Given the description of an element on the screen output the (x, y) to click on. 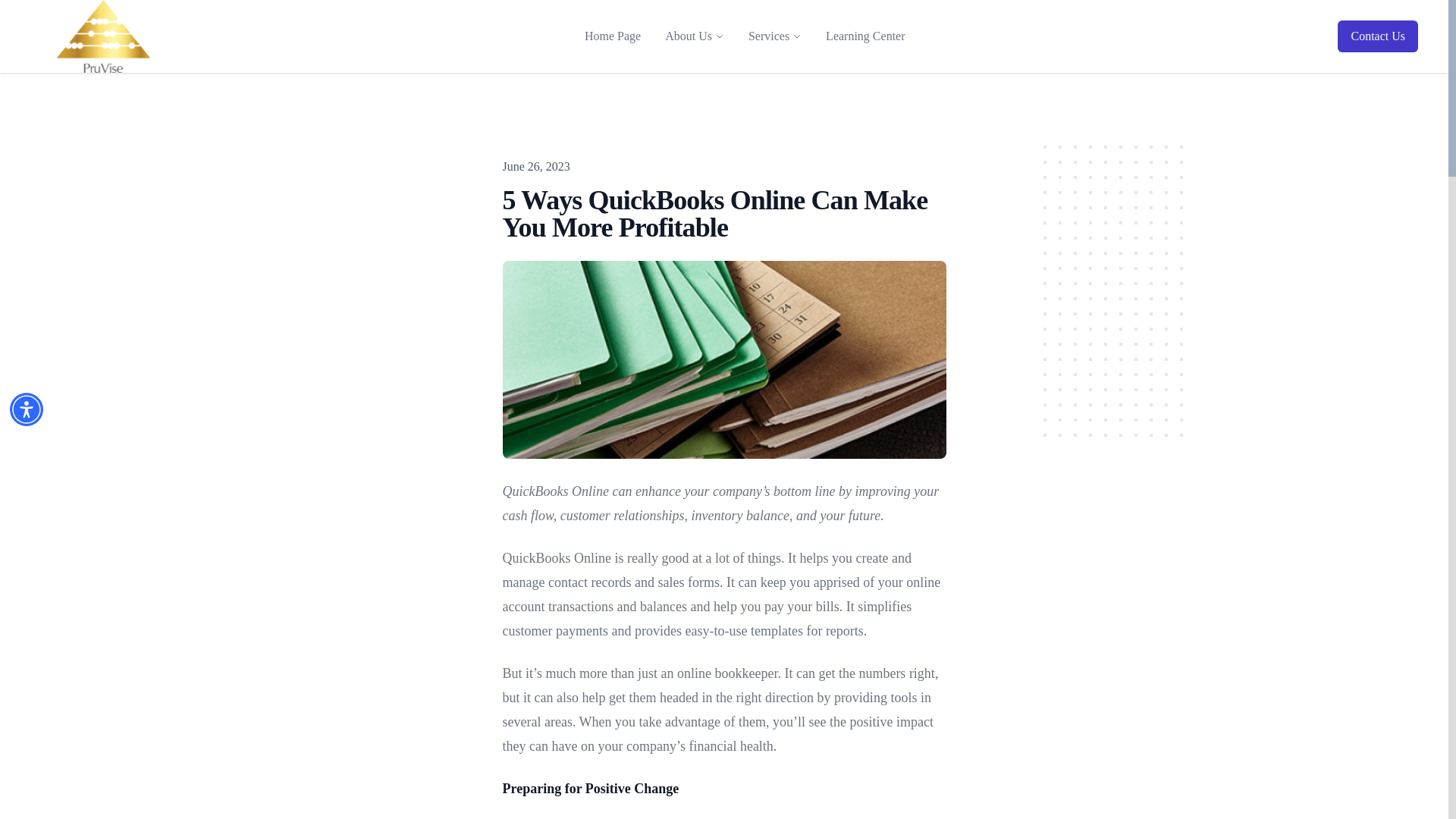
Services (768, 36)
Accessibility Menu (26, 409)
www.pruvise.com (103, 36)
About Us (688, 36)
Home Page (612, 36)
Home Page (612, 36)
Learning Center (865, 36)
Learning Center (865, 36)
Contact Us (1378, 36)
